Given the description of an element on the screen output the (x, y) to click on. 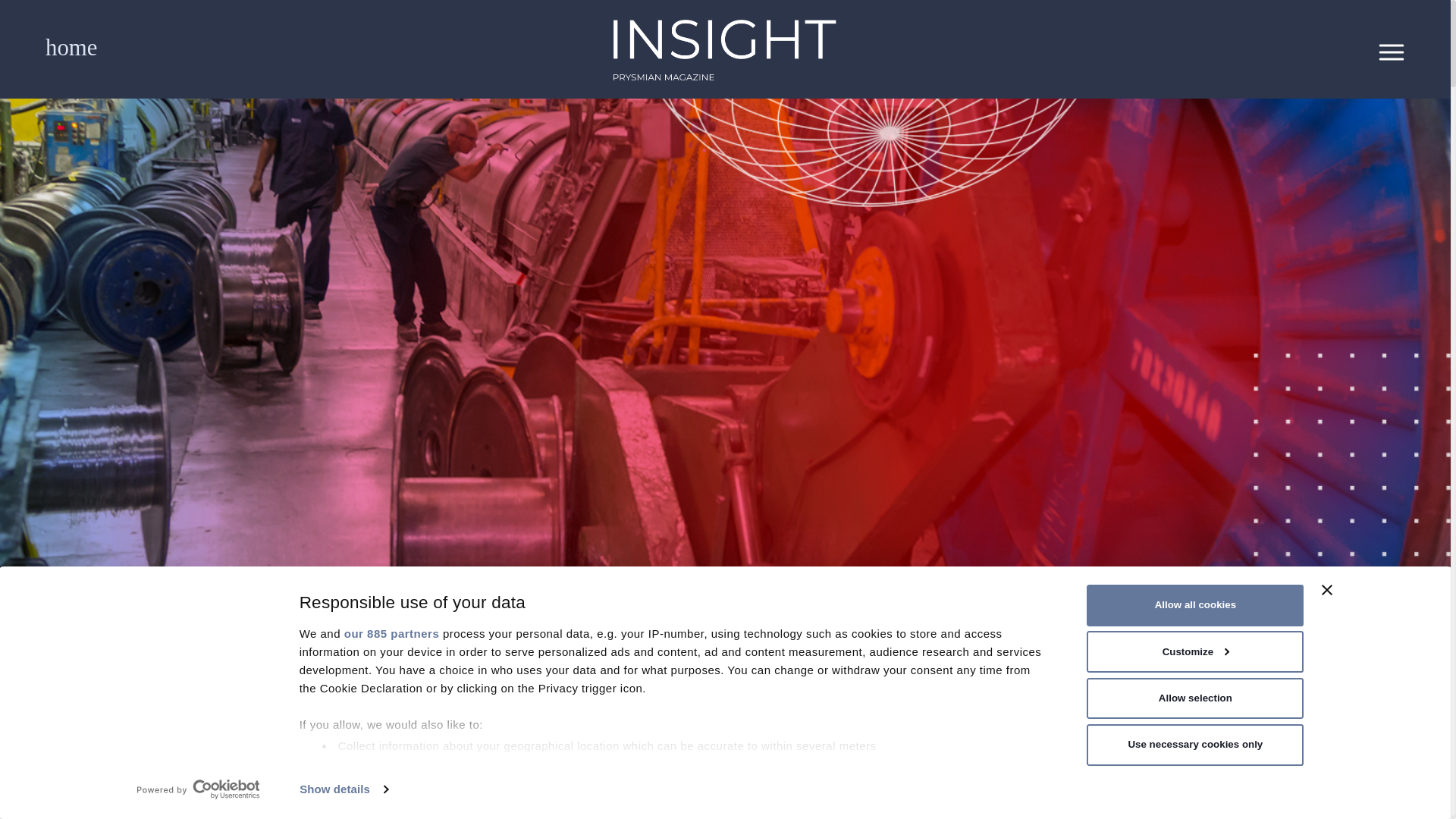
details section (828, 784)
our 885 partners (391, 633)
Show details (343, 789)
